Given the description of an element on the screen output the (x, y) to click on. 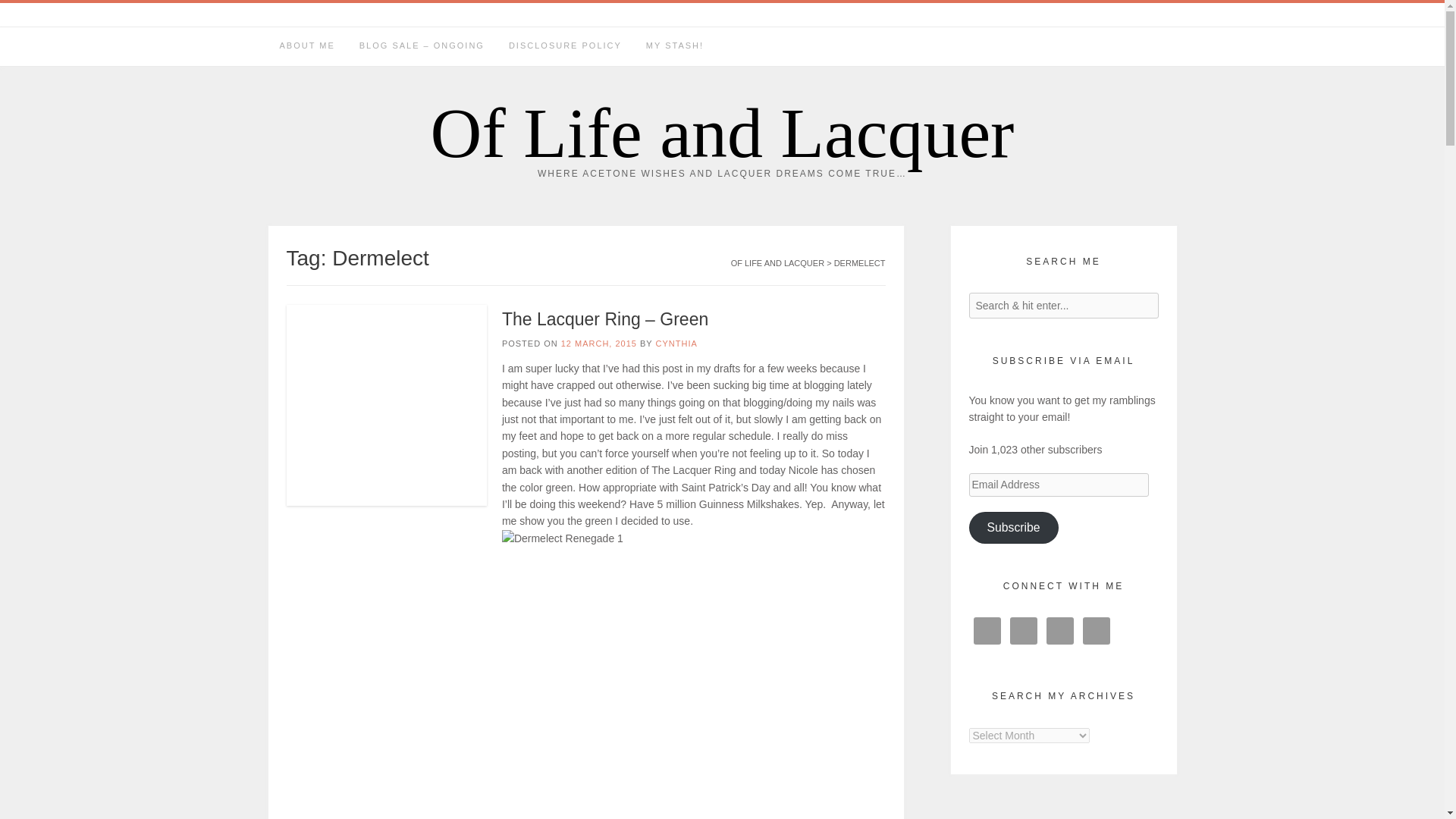
Of Life and Lacquer (722, 132)
ABOUT ME (306, 46)
Go to Of Life and Lacquer. (777, 262)
OF LIFE AND LACQUER (777, 262)
DISCLOSURE POLICY (564, 46)
MY STASH! (674, 46)
CYNTHIA (676, 343)
Of Life and Lacquer (722, 132)
Subscribe (1013, 527)
